Given the description of an element on the screen output the (x, y) to click on. 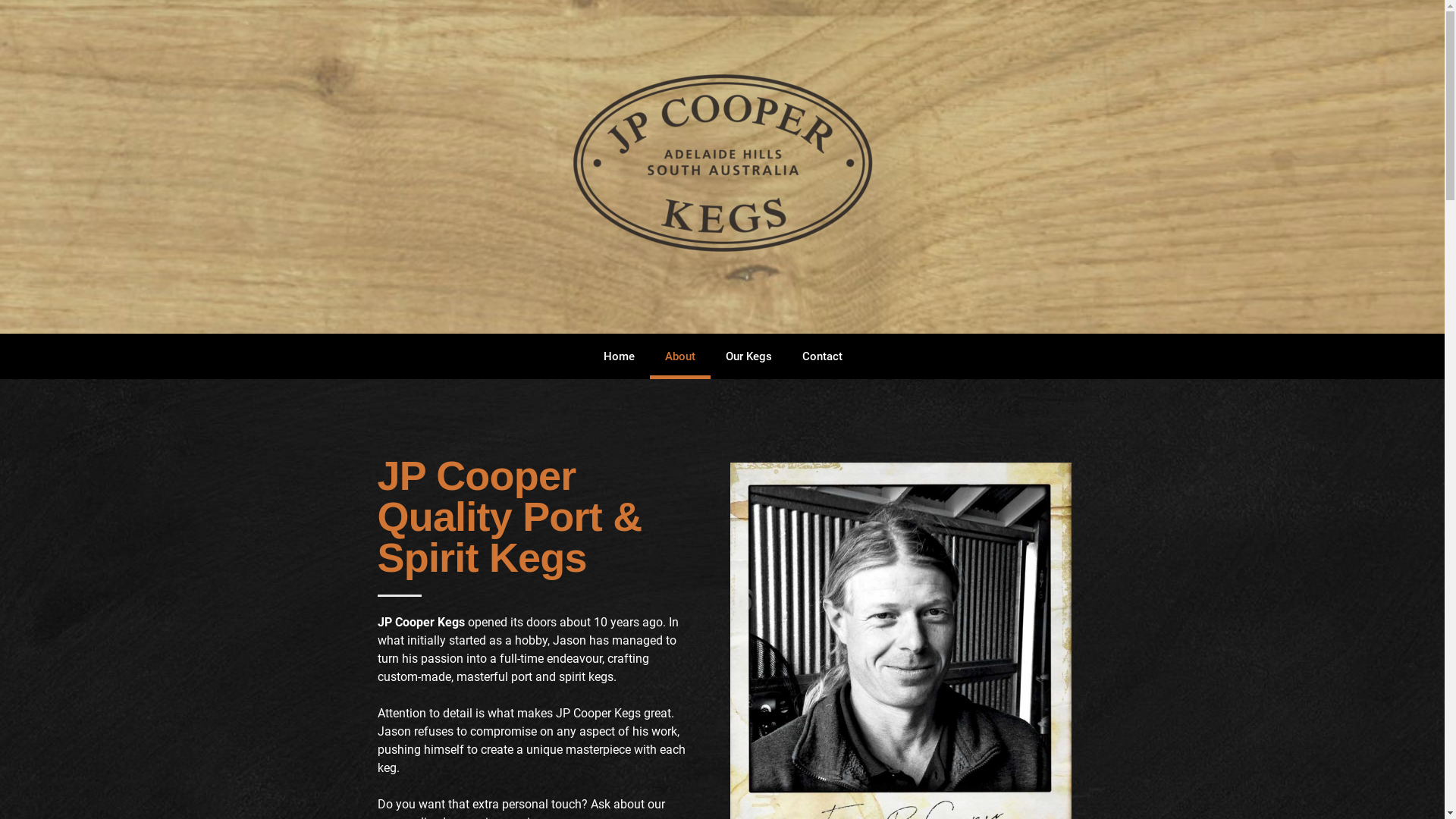
Home Element type: text (618, 356)
About Element type: text (679, 356)
Contact Element type: text (822, 356)
Our Kegs Element type: text (748, 356)
